Given the description of an element on the screen output the (x, y) to click on. 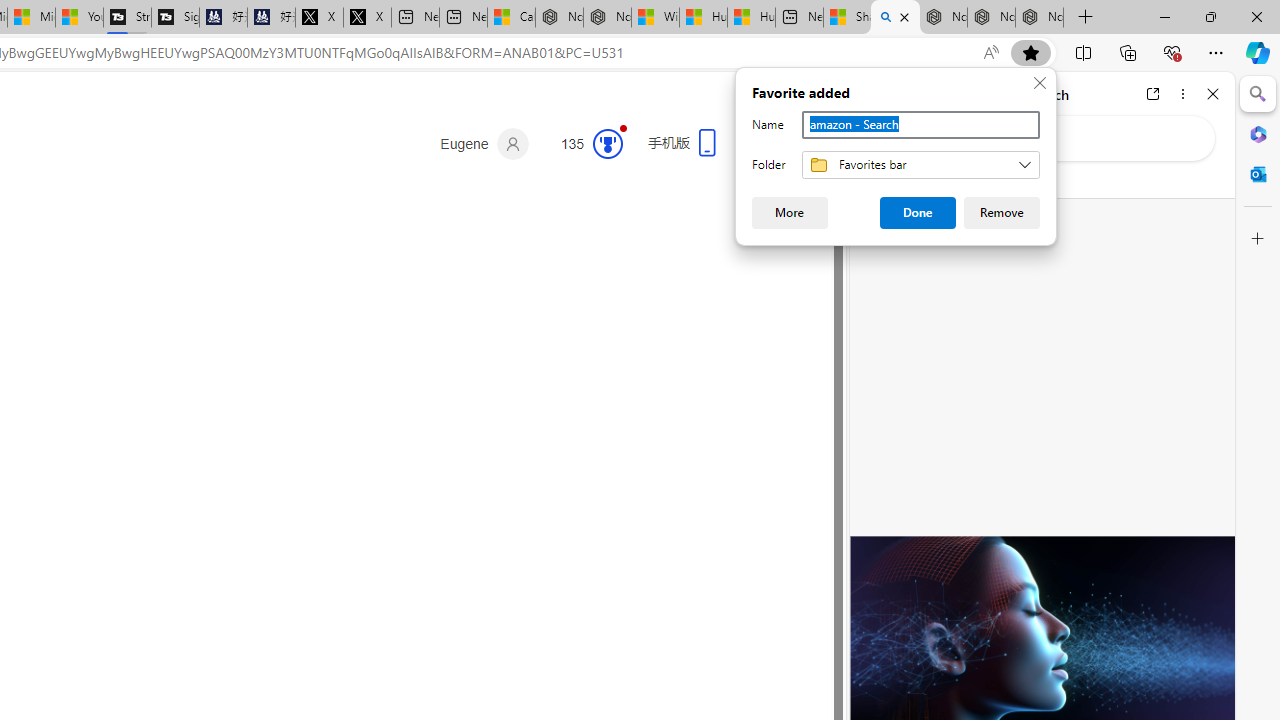
Shanghai, China hourly forecast | Microsoft Weather (847, 17)
Nordace Siena Pro 15 Backpack (991, 17)
Folder (920, 165)
